Given the description of an element on the screen output the (x, y) to click on. 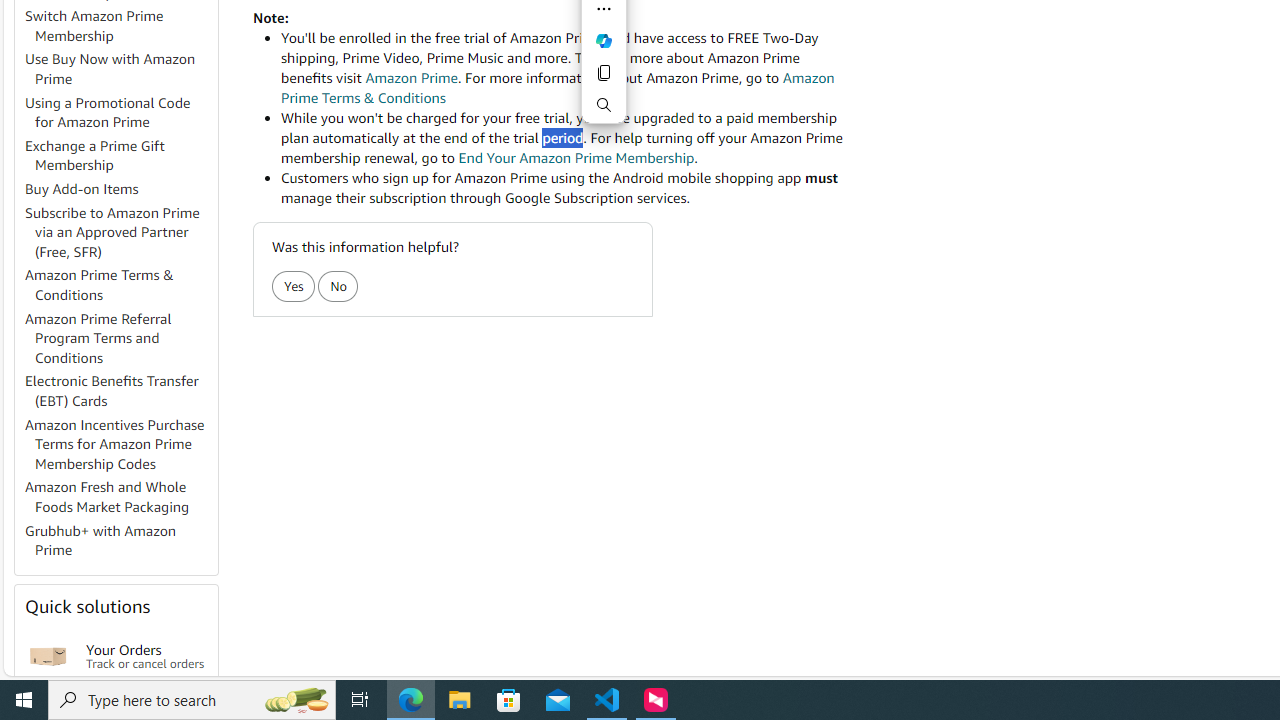
Amazon Fresh and Whole Foods Market Packaging (120, 497)
Amazon Prime Referral Program Terms and Conditions (98, 337)
Electronic Benefits Transfer (EBT) Cards (120, 391)
Switch Amazon Prime Membership (94, 25)
Ask Copilot (603, 40)
Yes (292, 286)
Grubhub+ with Amazon Prime (100, 540)
Use Buy Now with Amazon Prime (120, 69)
Amazon Prime (411, 78)
No (338, 286)
End Your Amazon Prime Membership (576, 158)
Using a Promotional Code for Amazon Prime (120, 112)
Using a Promotional Code for Amazon Prime (107, 111)
